Given the description of an element on the screen output the (x, y) to click on. 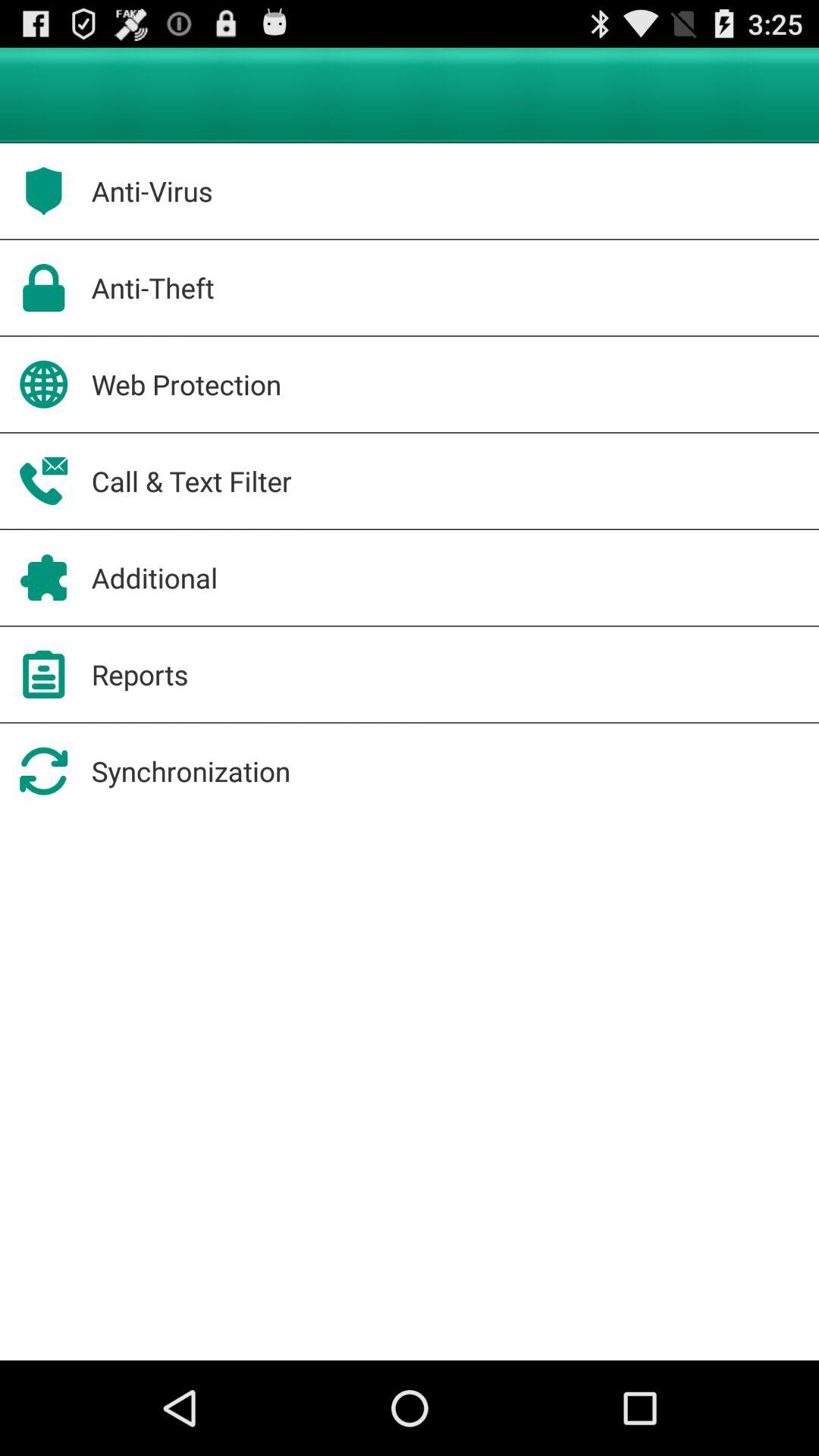
select anti-theft app (152, 287)
